Given the description of an element on the screen output the (x, y) to click on. 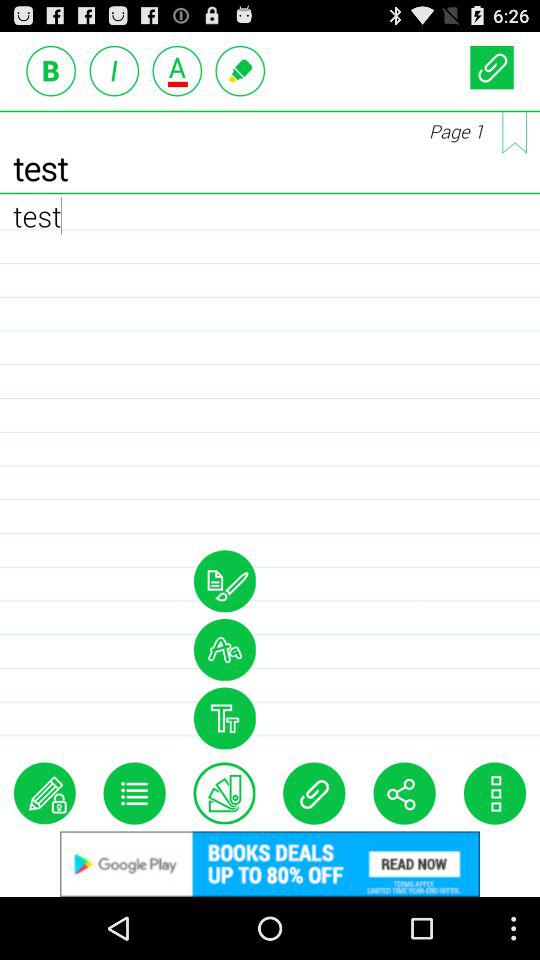
add tags (224, 793)
